Given the description of an element on the screen output the (x, y) to click on. 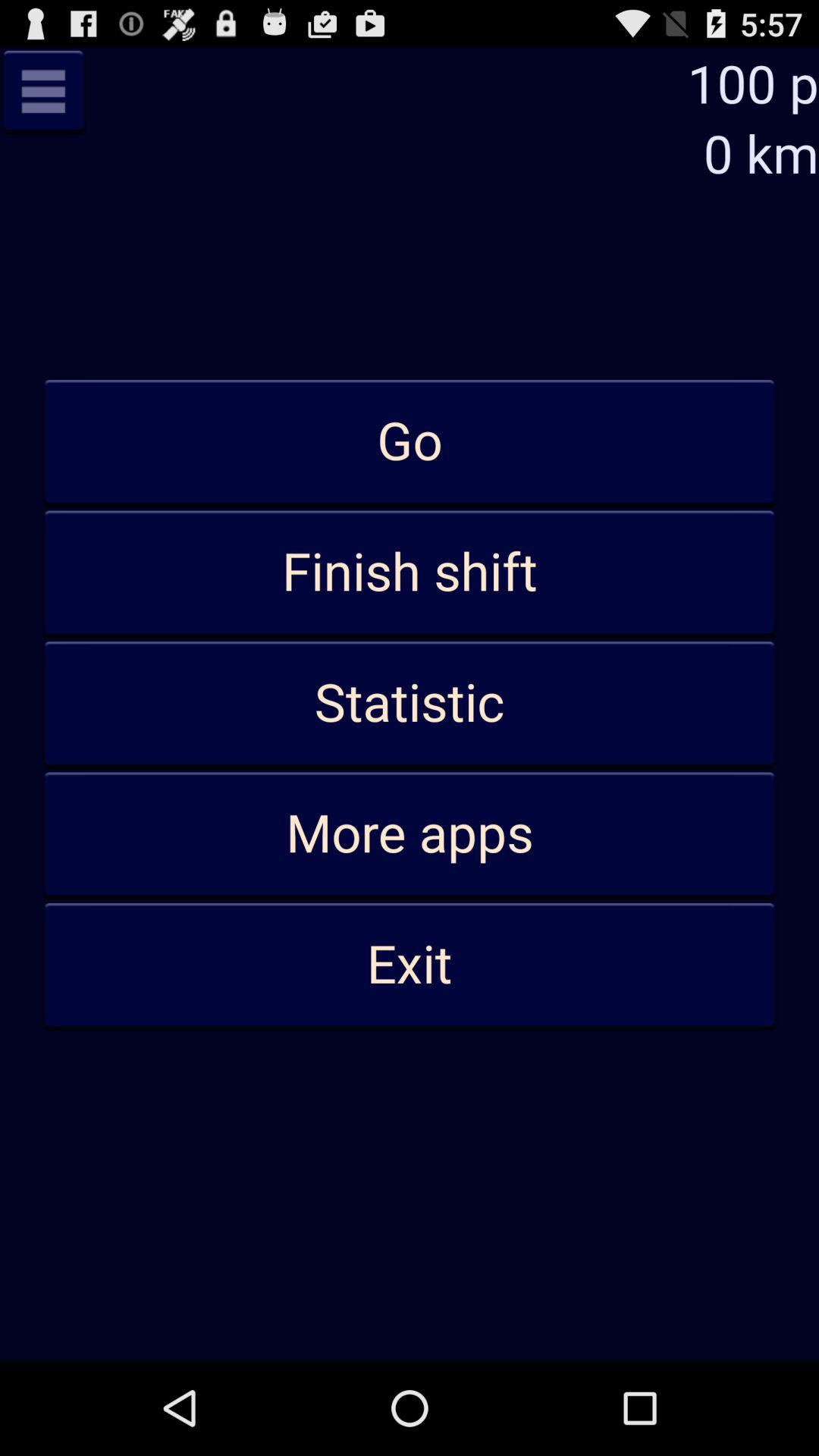
scroll until the exit item (409, 965)
